Given the description of an element on the screen output the (x, y) to click on. 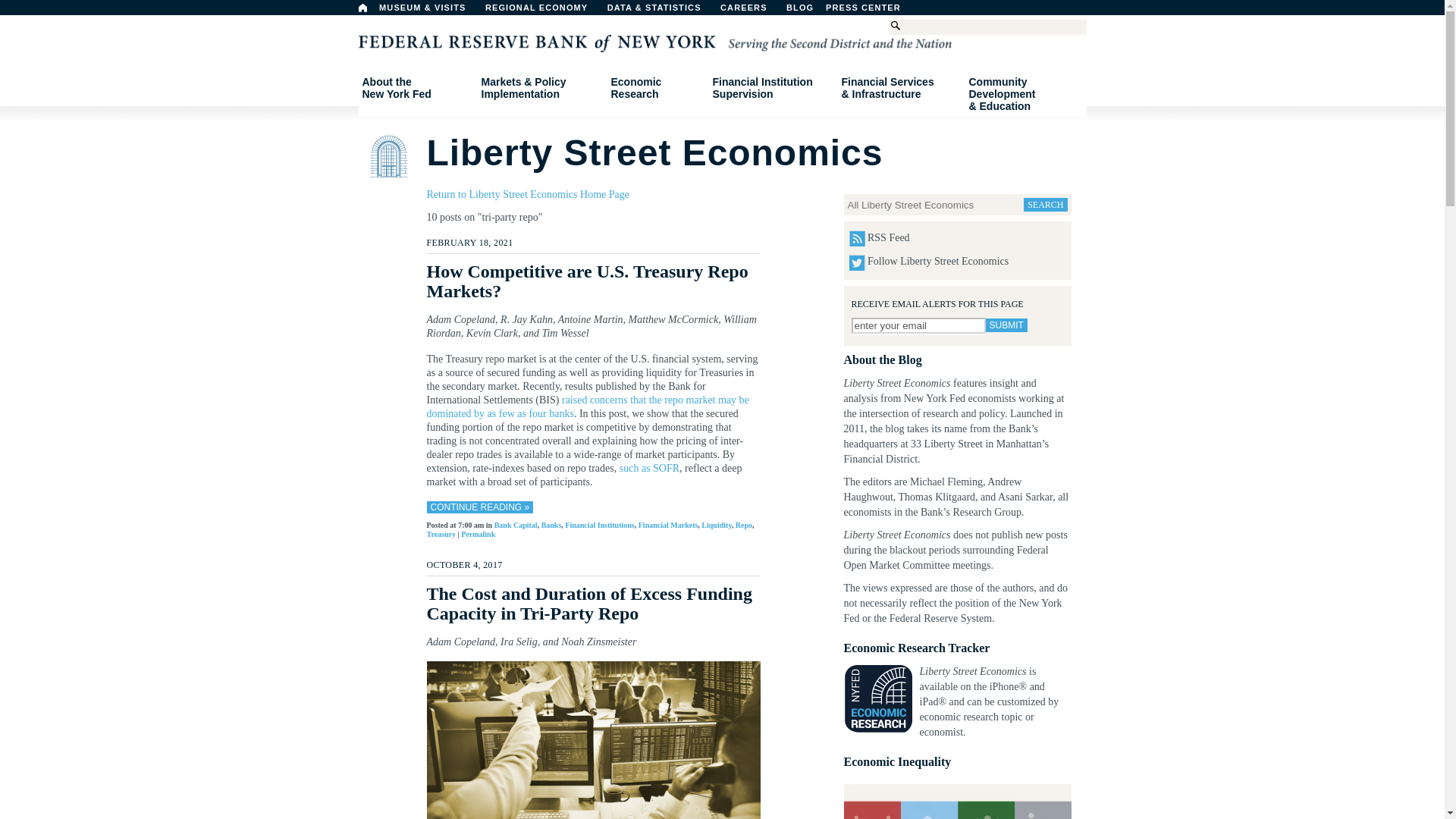
Home (415, 87)
CAREERS (362, 8)
BLOG (751, 11)
PRESS CENTER (839, 11)
enter your email (870, 11)
Submit (917, 325)
REGIONAL ECONOMY (1006, 325)
